Given the description of an element on the screen output the (x, y) to click on. 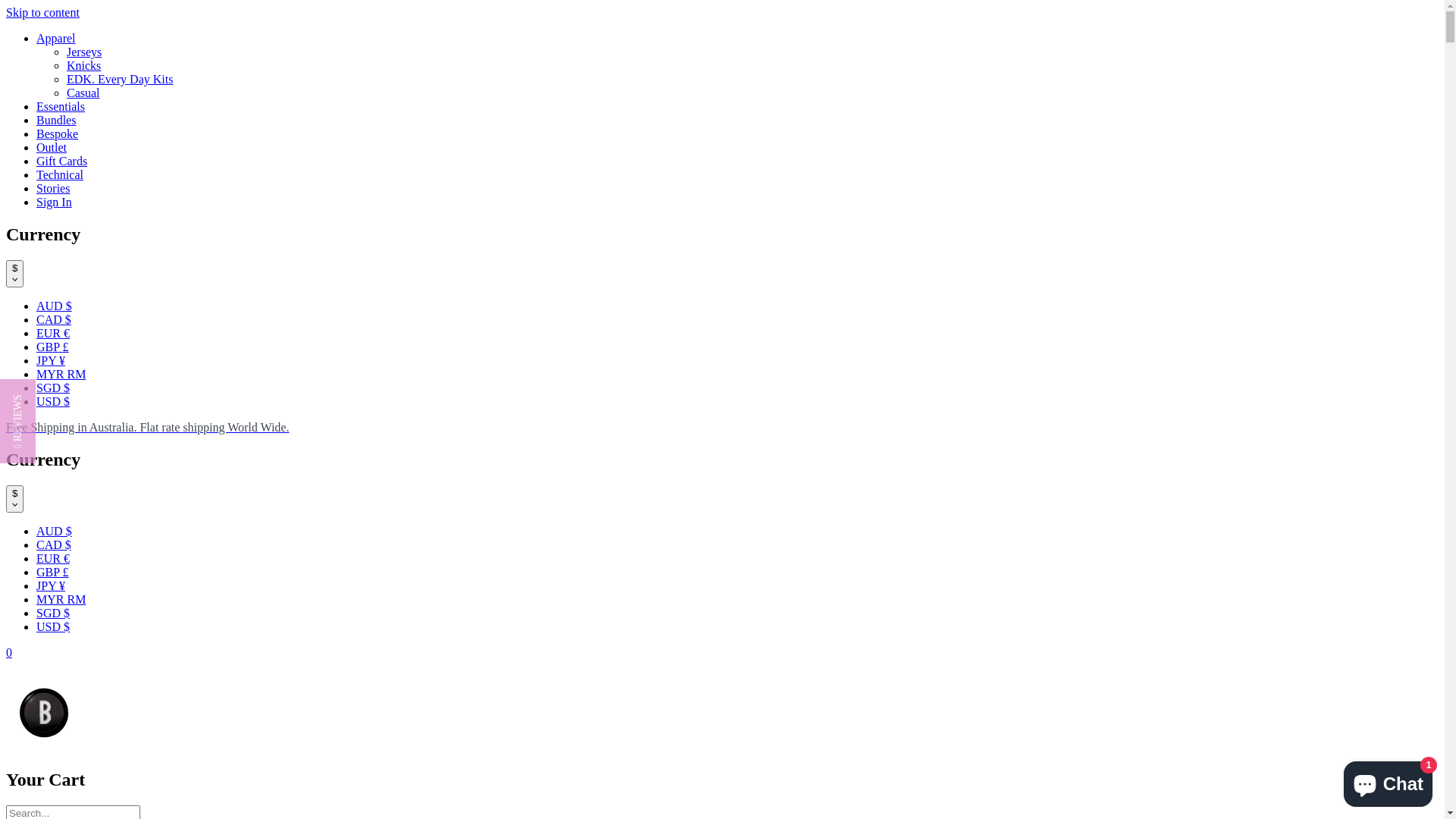
0 Element type: text (9, 652)
Skip to content Element type: text (42, 12)
Stories Element type: text (52, 188)
CAD $ Element type: text (53, 544)
$ Element type: text (14, 273)
AUD $ Element type: text (54, 305)
$ Element type: text (14, 498)
Free Shipping in Australia. Flat rate shipping World Wide. Element type: text (722, 427)
Essentials Element type: text (60, 106)
AUD $ Element type: text (54, 530)
Casual Element type: text (83, 92)
Bundles Element type: text (55, 119)
Technical Element type: text (59, 174)
MYR RM Element type: text (60, 373)
Sign In Element type: text (54, 201)
SGD $ Element type: text (52, 612)
MYR RM Element type: text (60, 599)
Bespoke Element type: text (57, 133)
Shopify online store chat Element type: hover (1388, 780)
Gift Cards Element type: text (61, 160)
Apparel Element type: text (55, 37)
Outlet Element type: text (51, 147)
EDK. Every Day Kits Element type: text (119, 78)
USD $ Element type: text (52, 626)
Knicks Element type: text (83, 65)
Jerseys Element type: text (83, 51)
USD $ Element type: text (52, 401)
CAD $ Element type: text (53, 319)
SGD $ Element type: text (52, 387)
